Given the description of an element on the screen output the (x, y) to click on. 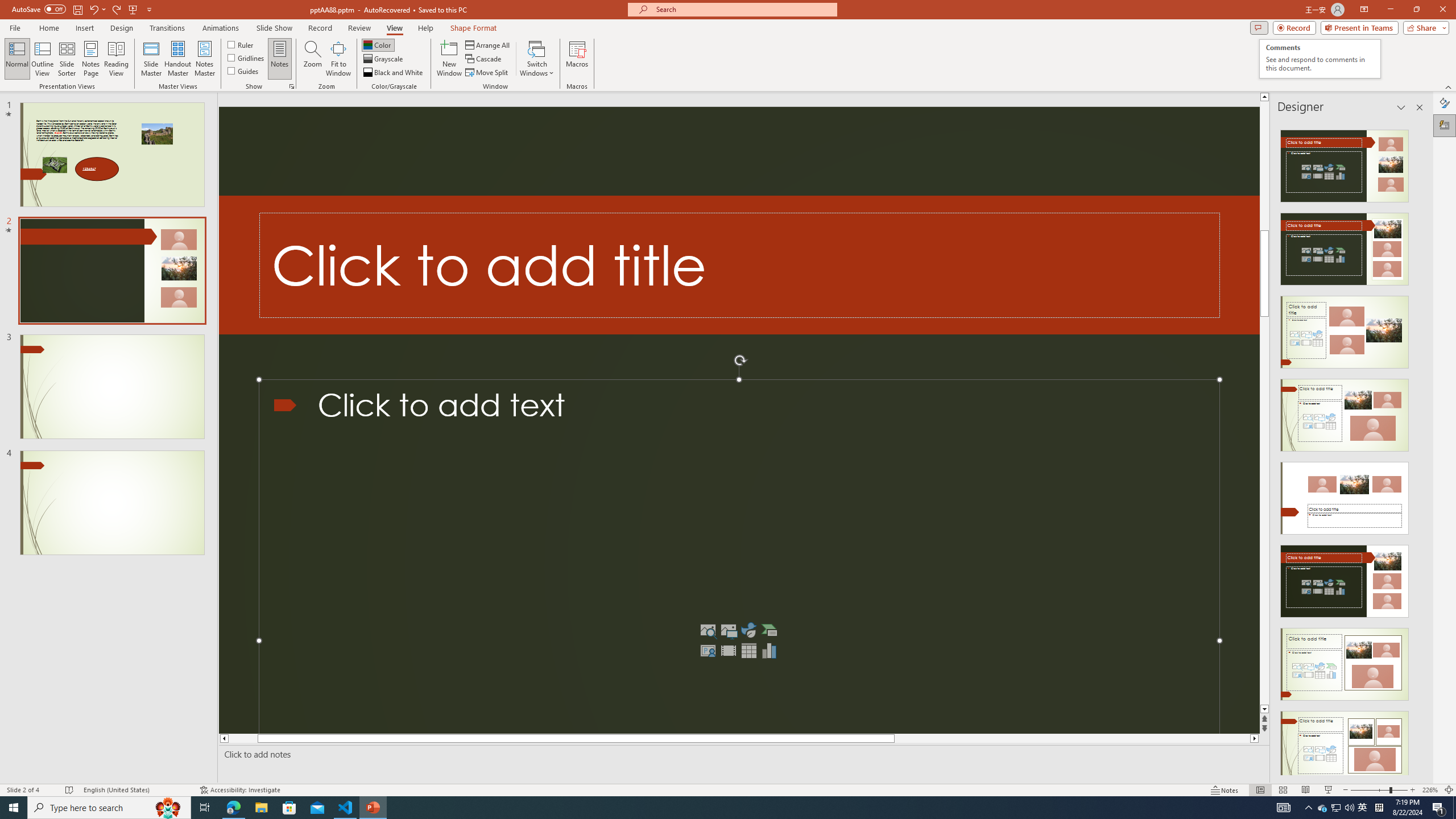
Black and White (393, 72)
Ruler (241, 44)
